Given the description of an element on the screen output the (x, y) to click on. 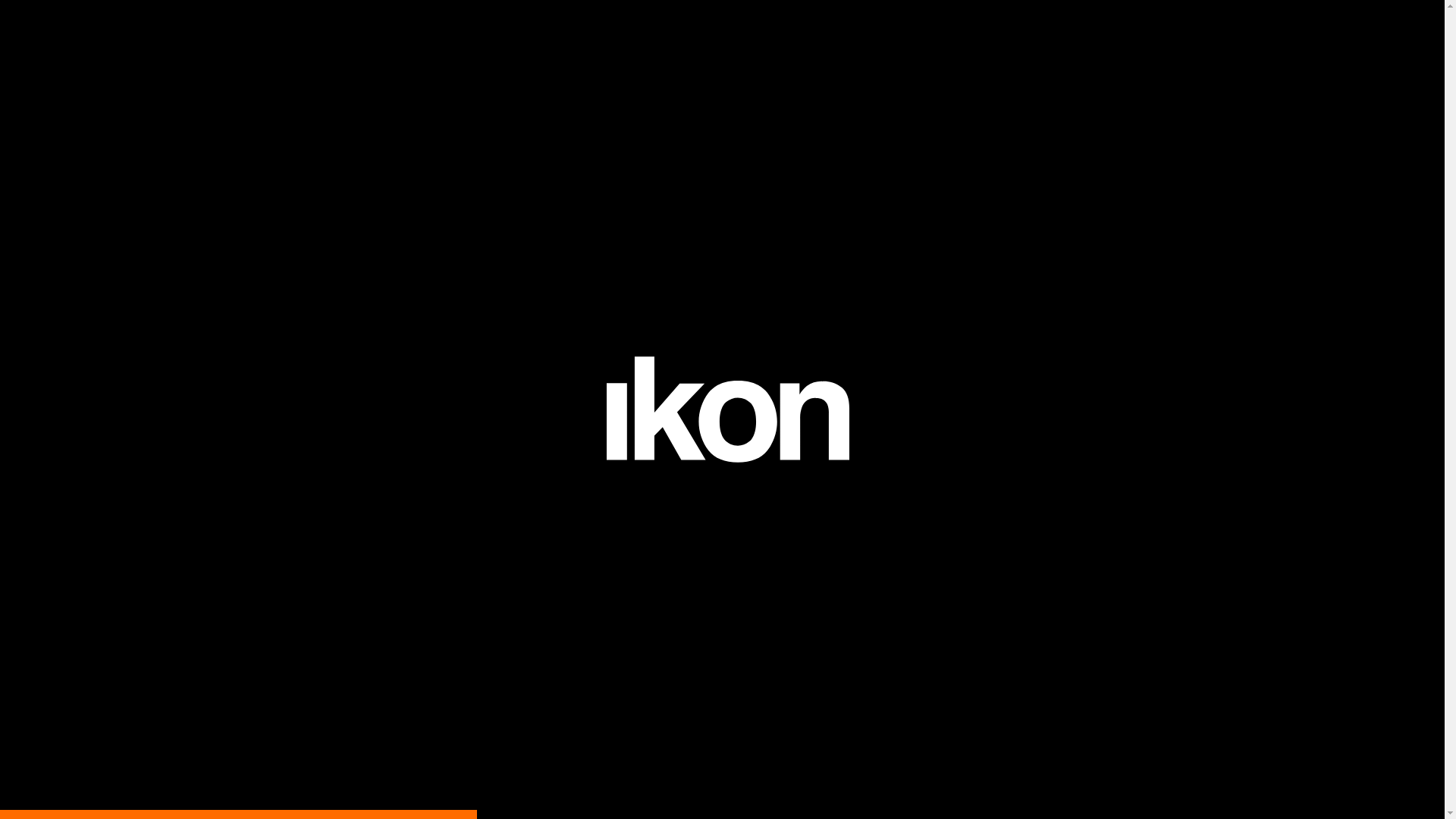
Contact Element type: text (1404, 28)
